Given the description of an element on the screen output the (x, y) to click on. 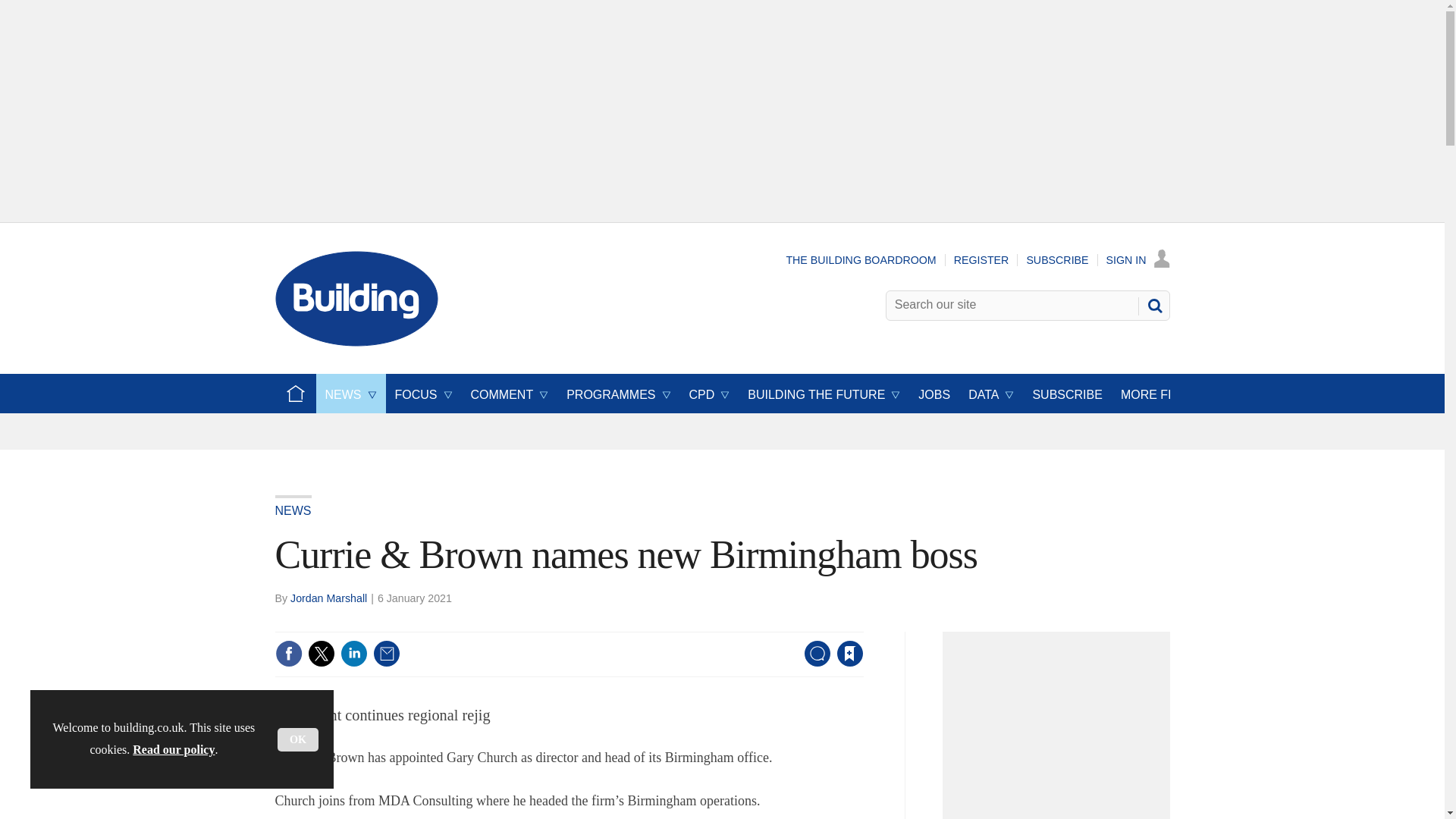
Read our policy (173, 748)
Insert Logo text (356, 341)
SIGN IN (1138, 259)
SEARCH (1153, 305)
3rd party ad content (1059, 730)
SUBSCRIBE (1056, 259)
Share this on Facebook (288, 653)
Share this on Twitter (320, 653)
Share this on Linked in (352, 653)
